Given the description of an element on the screen output the (x, y) to click on. 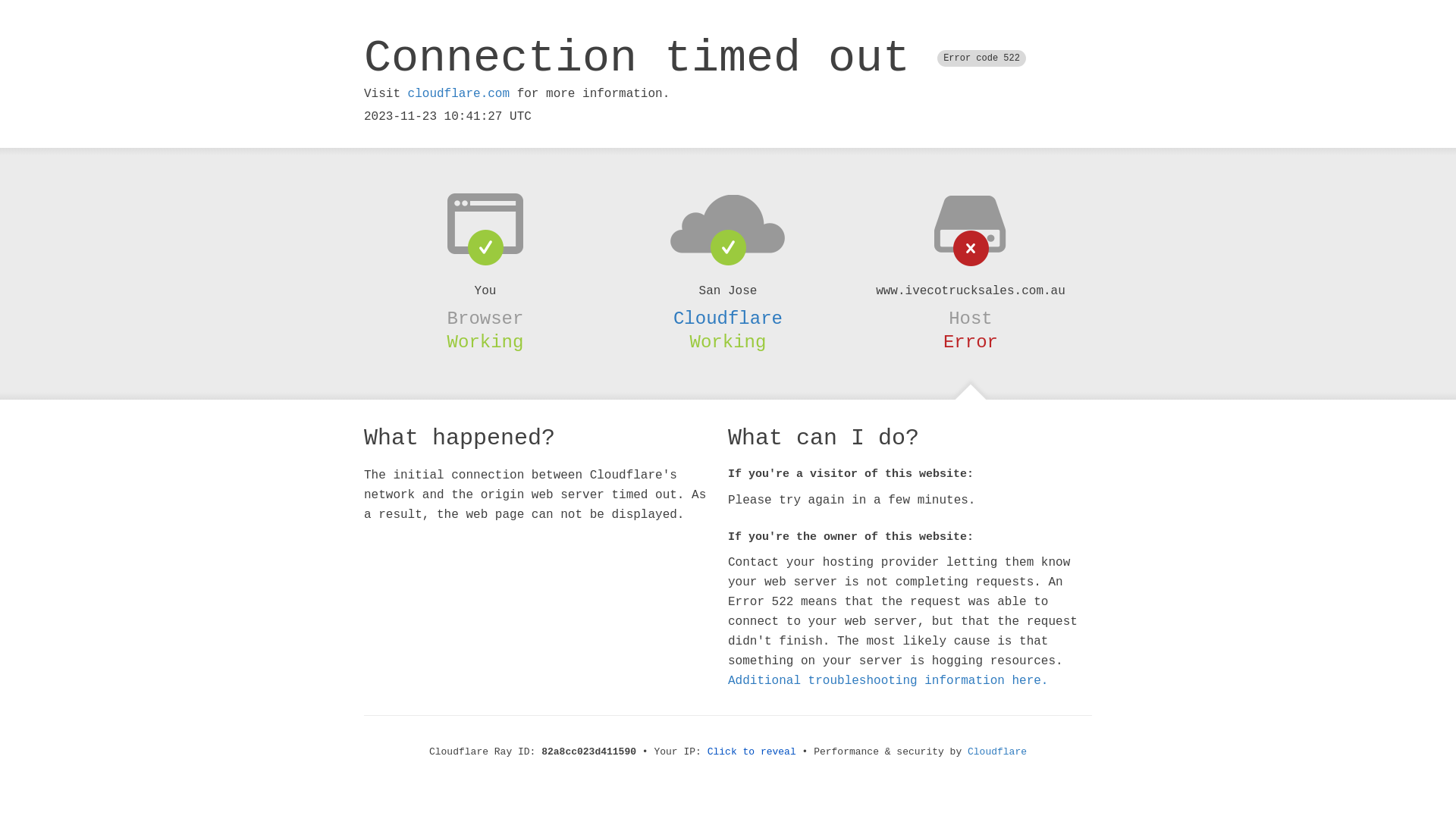
cloudflare.com Element type: text (458, 93)
Cloudflare Element type: text (996, 751)
Additional troubleshooting information here. Element type: text (888, 680)
Cloudflare Element type: text (727, 318)
Click to reveal Element type: text (751, 751)
